Given the description of an element on the screen output the (x, y) to click on. 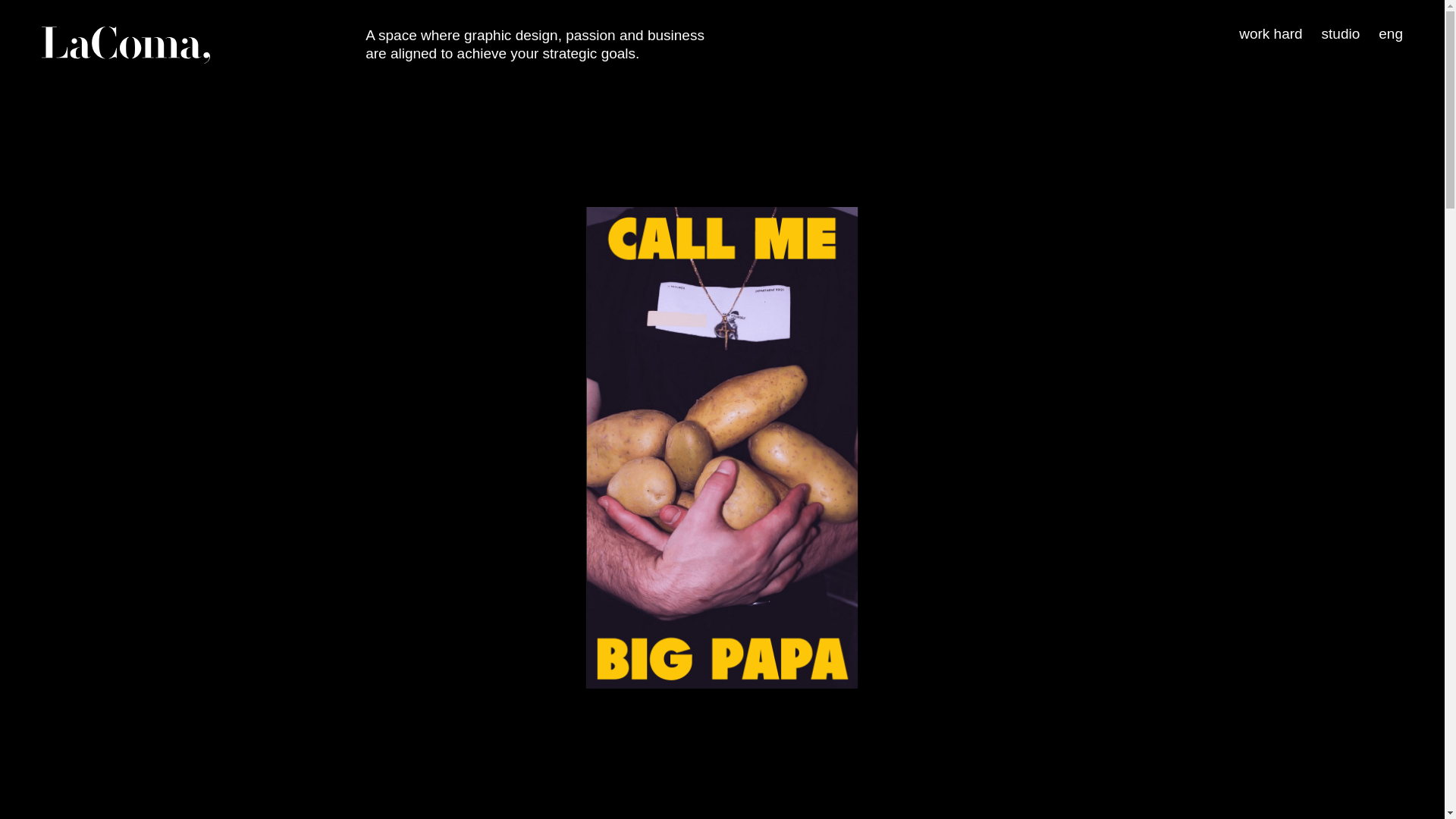
eng (1390, 33)
work hard (1270, 33)
studio (1340, 33)
